Given the description of an element on the screen output the (x, y) to click on. 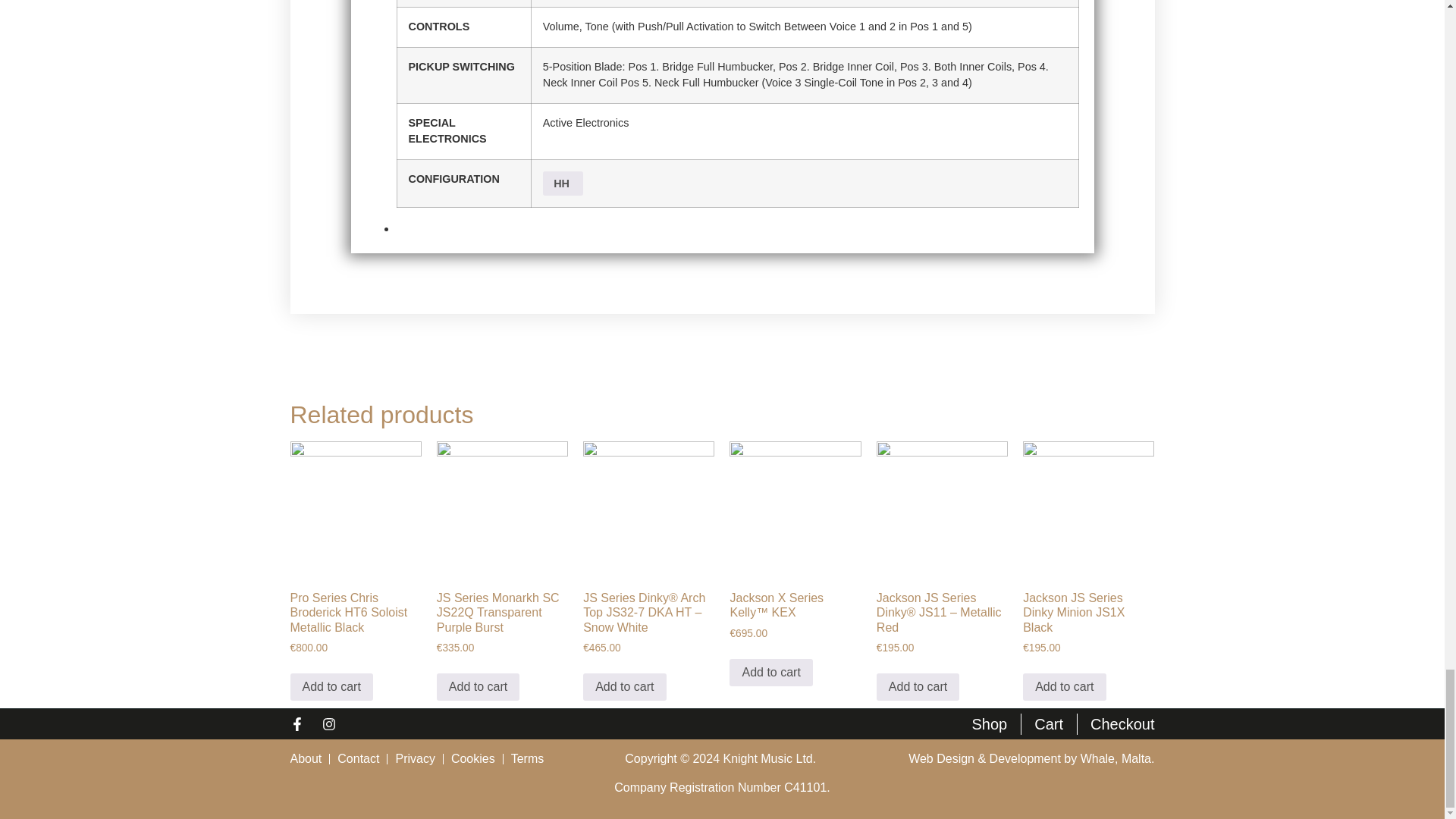
Add to cart (330, 687)
Add to cart (917, 687)
Add to cart (477, 687)
Search for other products with this spec (563, 183)
Add to cart (770, 672)
Add to cart (624, 687)
HH  (563, 183)
